Given the description of an element on the screen output the (x, y) to click on. 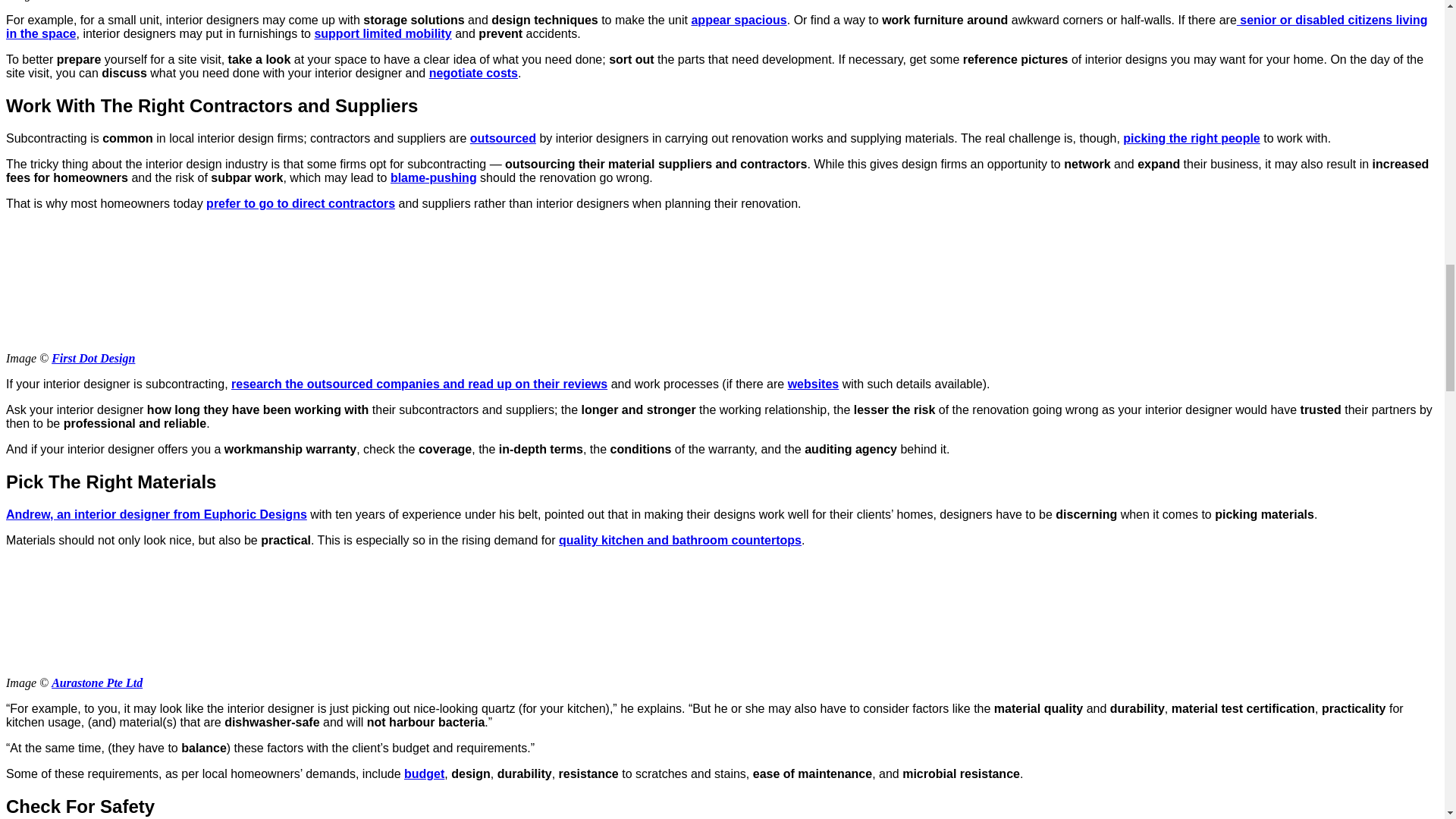
appear spacious (738, 19)
What Does An Interior Designer Do? (118, 616)
What Does An Interior Designer Do? (118, 279)
picking the right people (1190, 137)
 limited mobility (405, 33)
support (336, 33)
outsourced (502, 137)
negotiate costs (473, 72)
 senior or disabled citizens living in the space (715, 26)
